Given the description of an element on the screen output the (x, y) to click on. 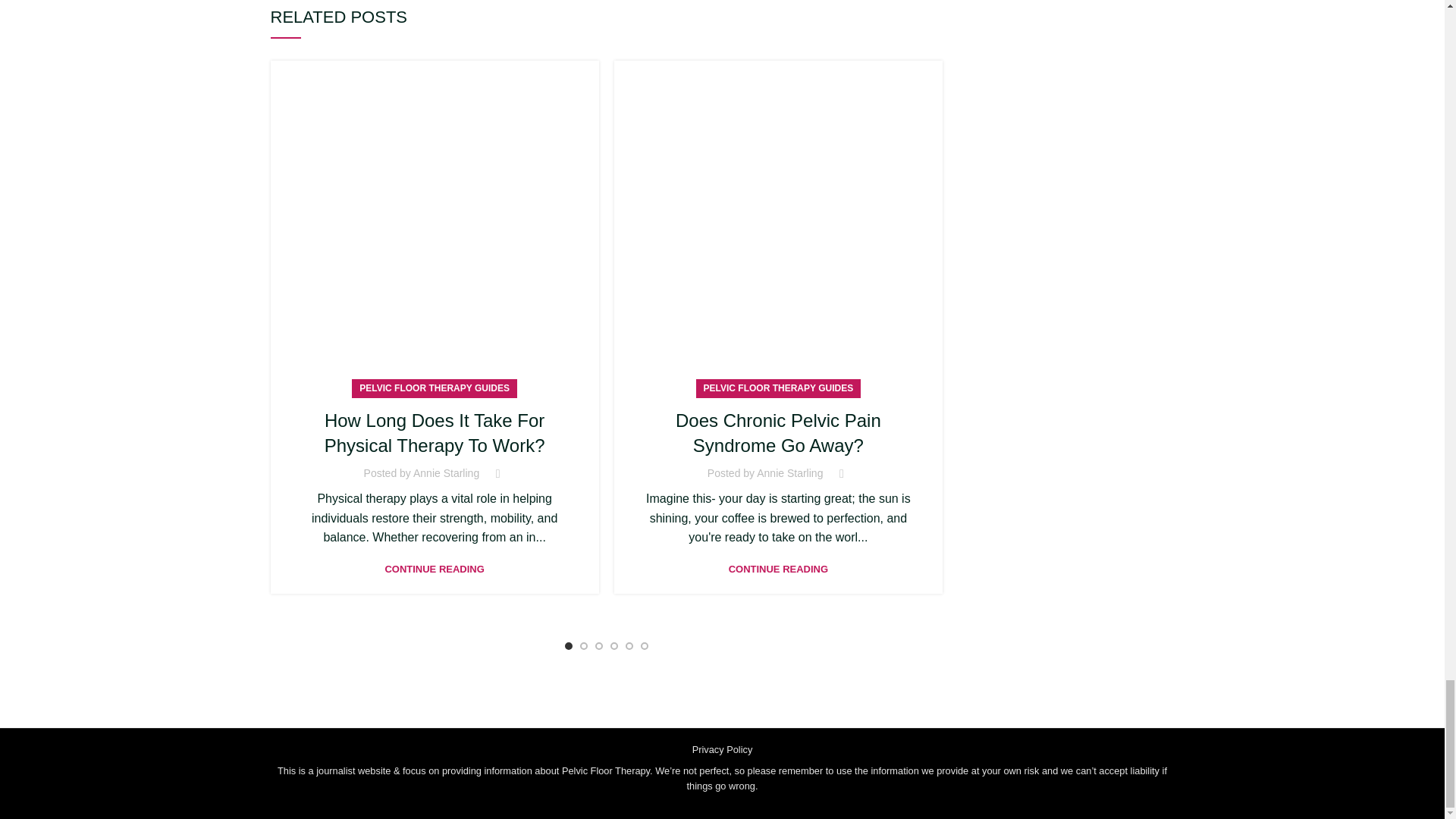
How Long Does It Take For Physical Therapy To Work? (434, 433)
Annie Starling (446, 472)
PELVIC FLOOR THERAPY GUIDES (434, 388)
